Given the description of an element on the screen output the (x, y) to click on. 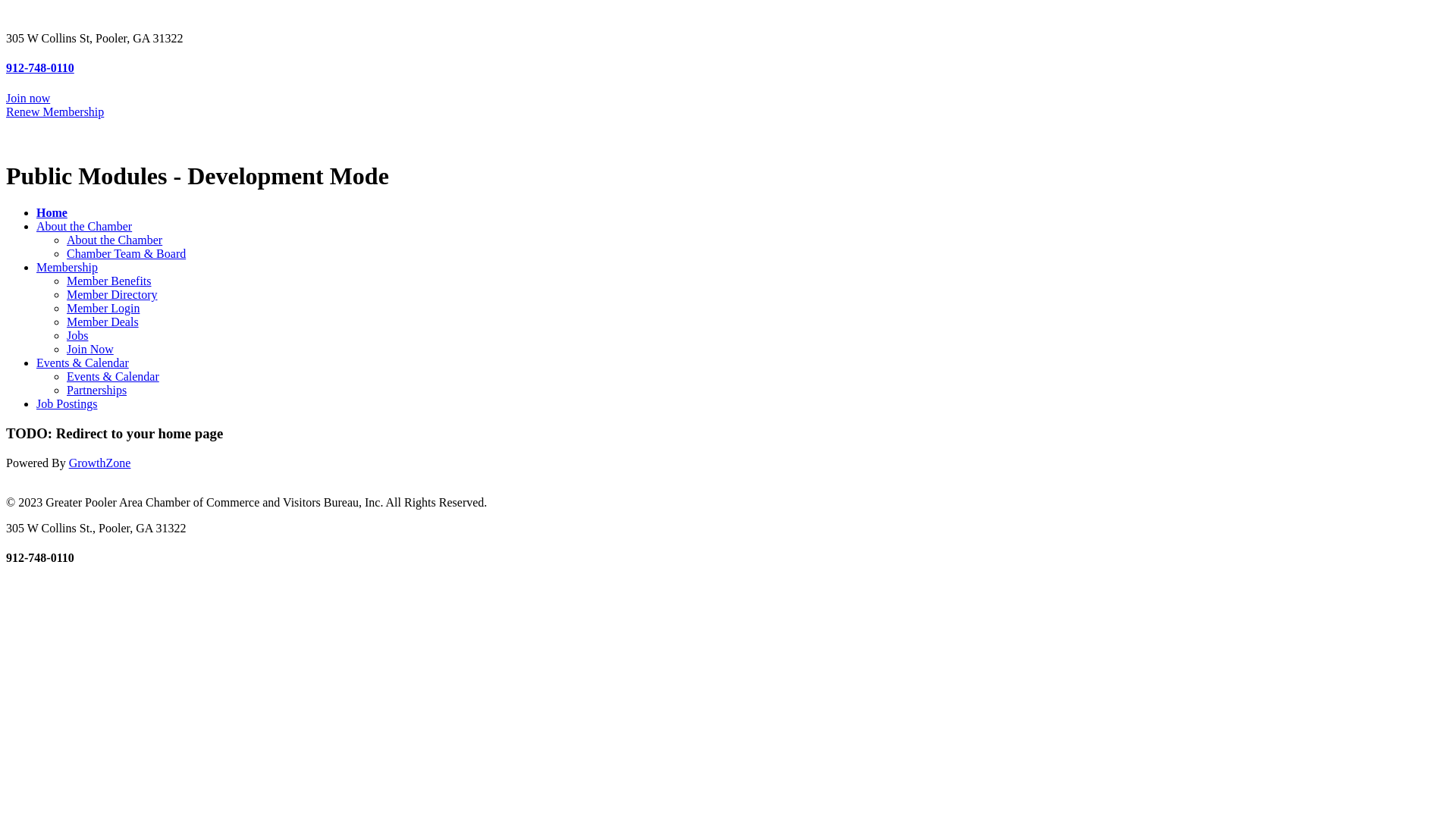
Member Directory Element type: text (111, 294)
Chamber Team & Board Element type: text (125, 253)
About the Chamber Element type: text (83, 225)
Member Deals Element type: text (102, 321)
Job Postings Element type: text (66, 403)
Jobs Element type: text (76, 335)
Renew Membership Element type: text (54, 111)
About the Chamber Element type: text (114, 239)
Join now Element type: text (28, 97)
Events & Calendar Element type: text (82, 362)
Partnerships Element type: text (96, 389)
Member Login Element type: text (102, 307)
Member Benefits Element type: text (108, 280)
Home Element type: text (51, 212)
Events & Calendar Element type: text (112, 376)
GrowthZone Element type: text (100, 462)
912-748-0110 Element type: text (40, 67)
Membership Element type: text (66, 266)
Join Now Element type: text (89, 348)
